Given the description of an element on the screen output the (x, y) to click on. 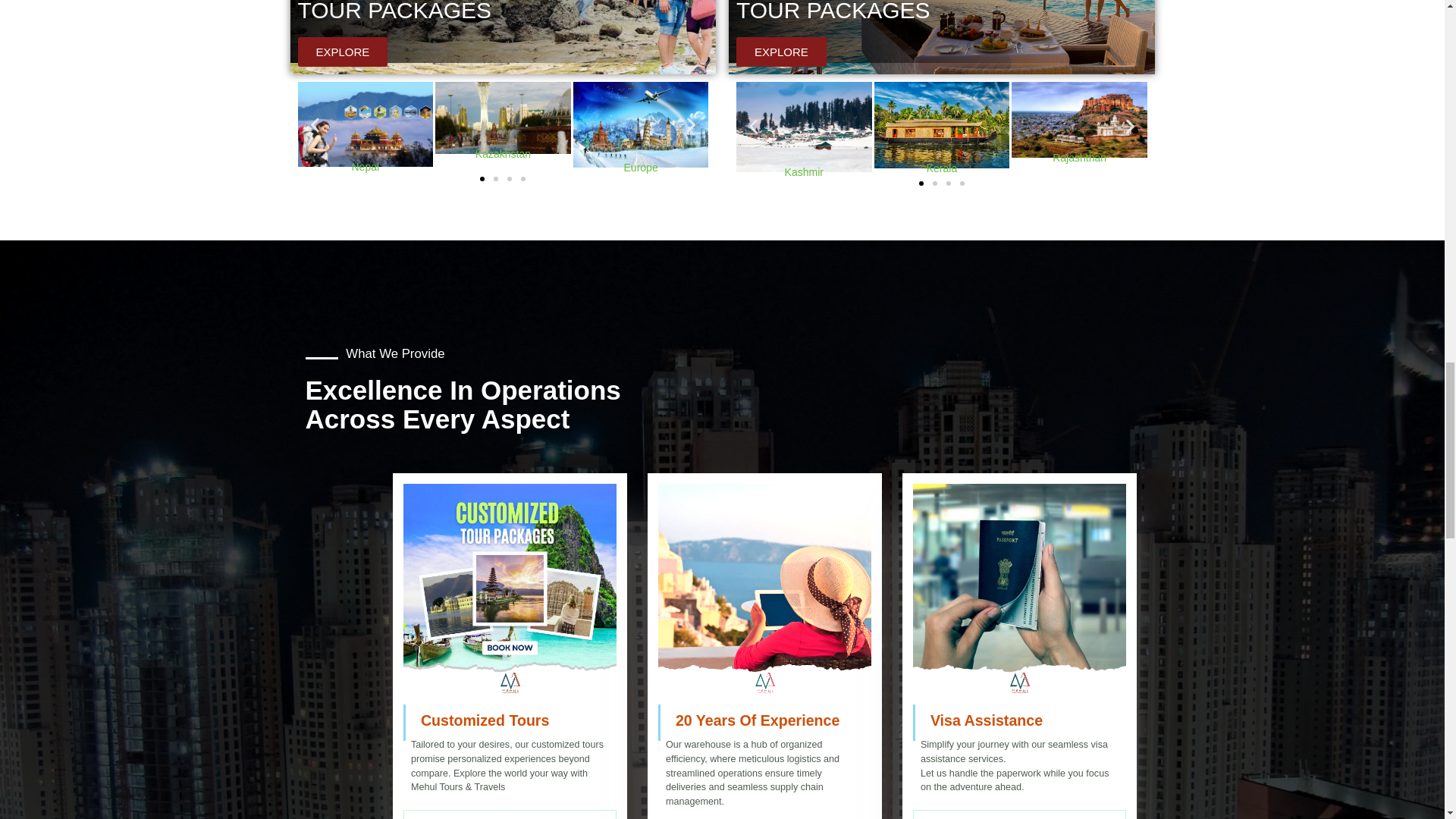
EXPLORE (781, 51)
Europe (641, 124)
Kazakhstan (502, 117)
EXPLORE (342, 51)
Nepal (364, 124)
